Given the description of an element on the screen output the (x, y) to click on. 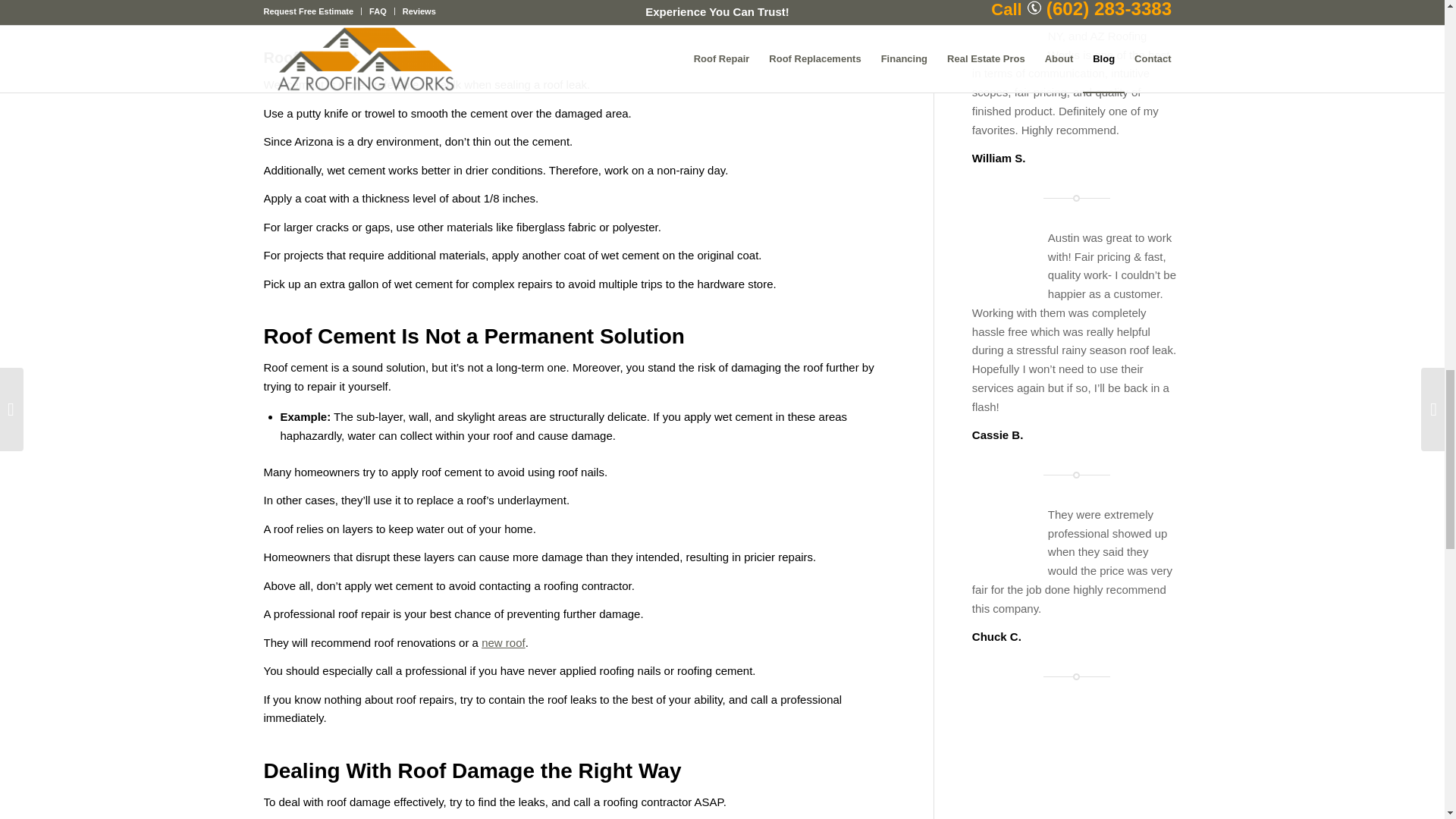
new roof (503, 642)
